Given the description of an element on the screen output the (x, y) to click on. 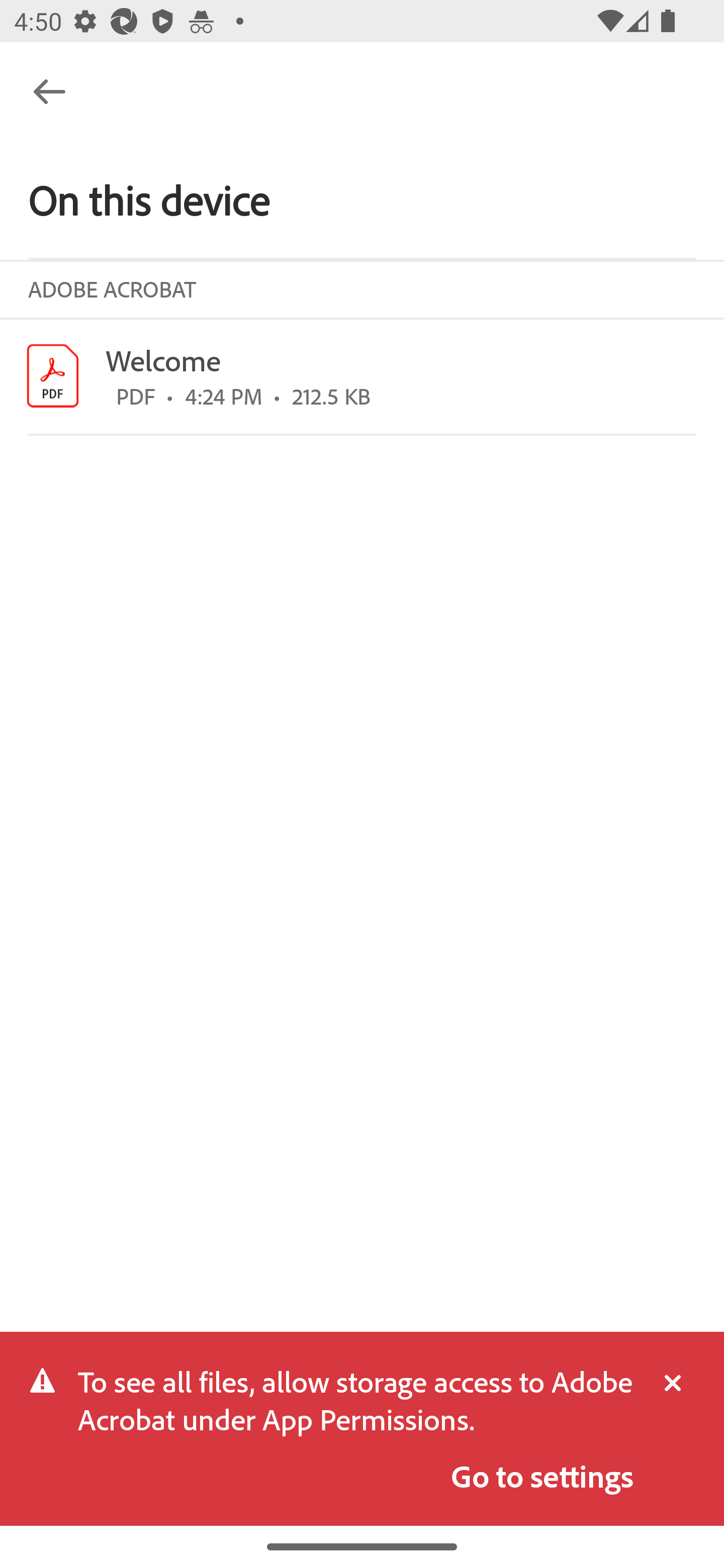
Navigate up (49, 91)
Welcome.pdf Welcome PDF •  4:24 PM •  212.5 KB (362, 376)
Close the indicator (663, 1383)
Go to settings (542, 1475)
